Given the description of an element on the screen output the (x, y) to click on. 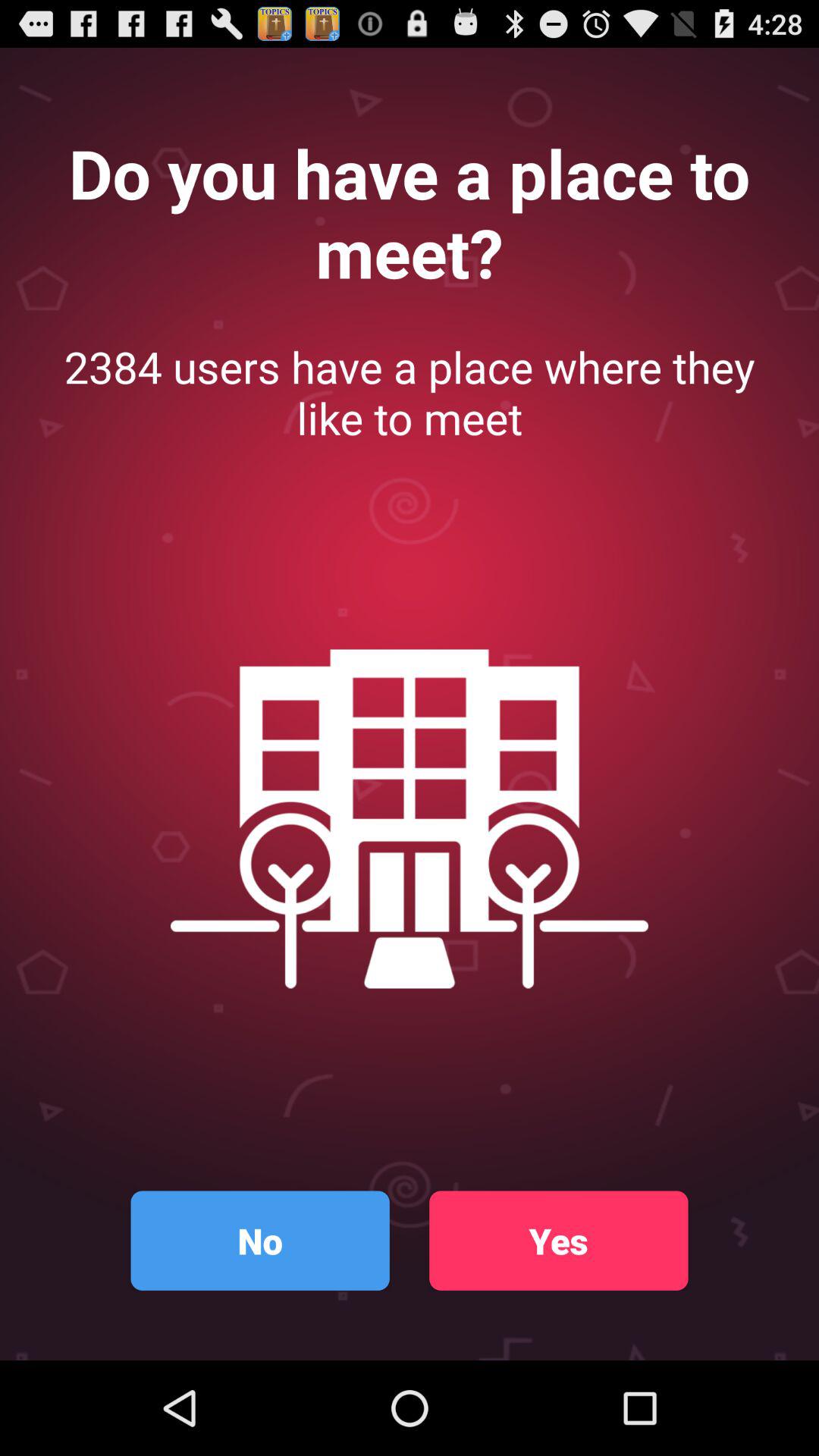
jump until no icon (259, 1240)
